Given the description of an element on the screen output the (x, y) to click on. 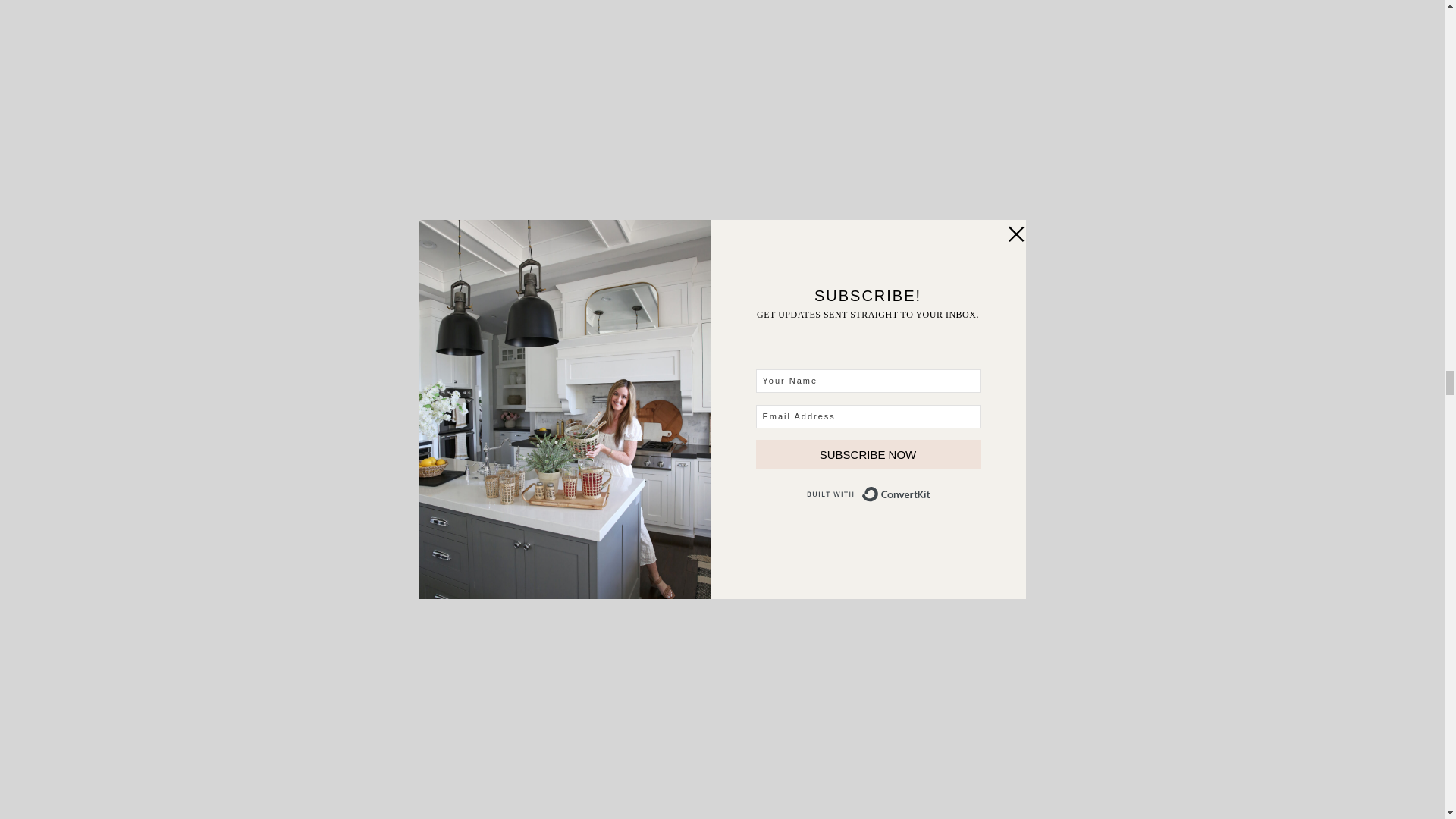
Vuori performance joggers (689, 470)
